Given the description of an element on the screen output the (x, y) to click on. 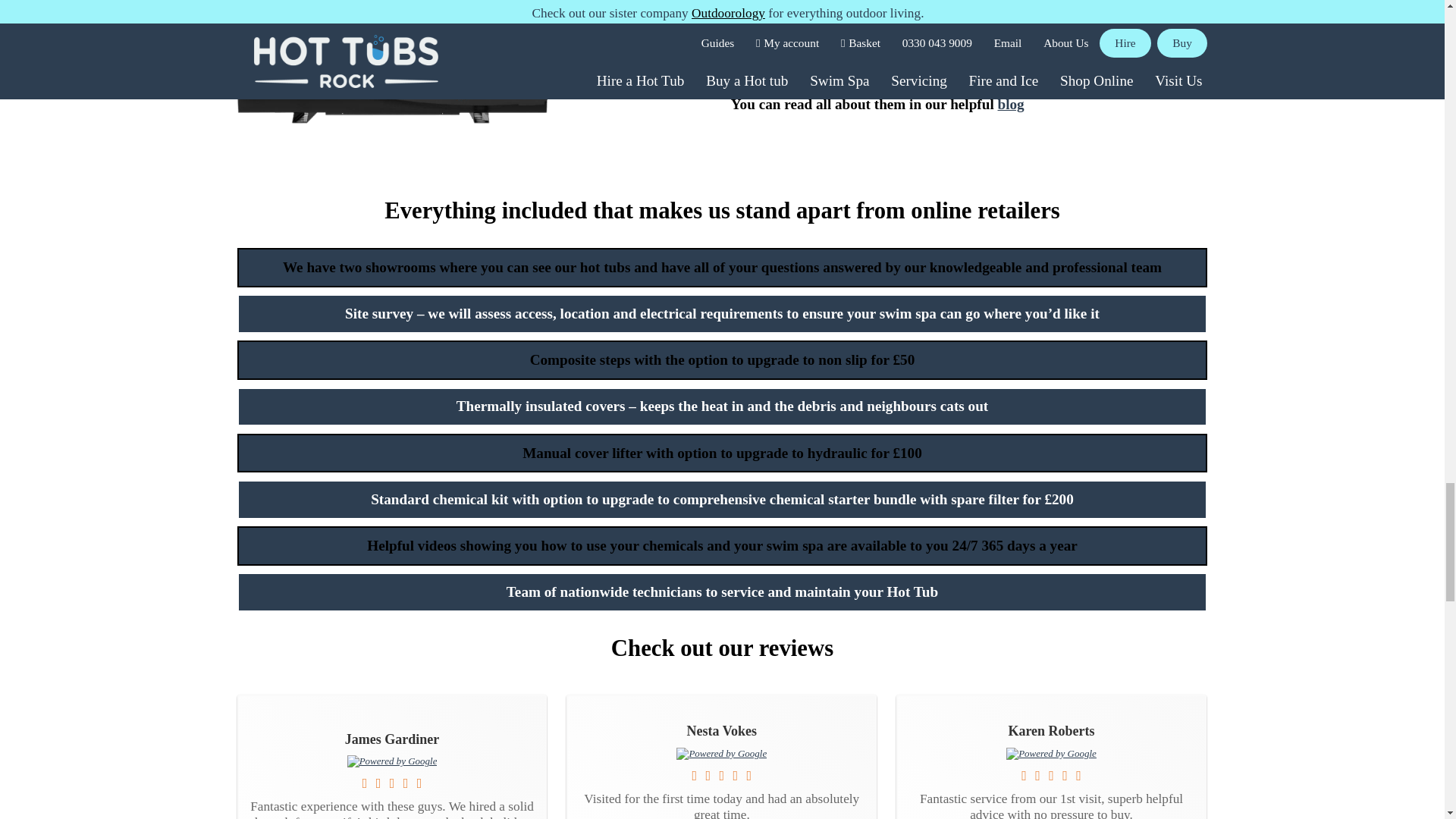
Google Review (392, 760)
Google Review (722, 753)
Google Review (1051, 753)
